Given the description of an element on the screen output the (x, y) to click on. 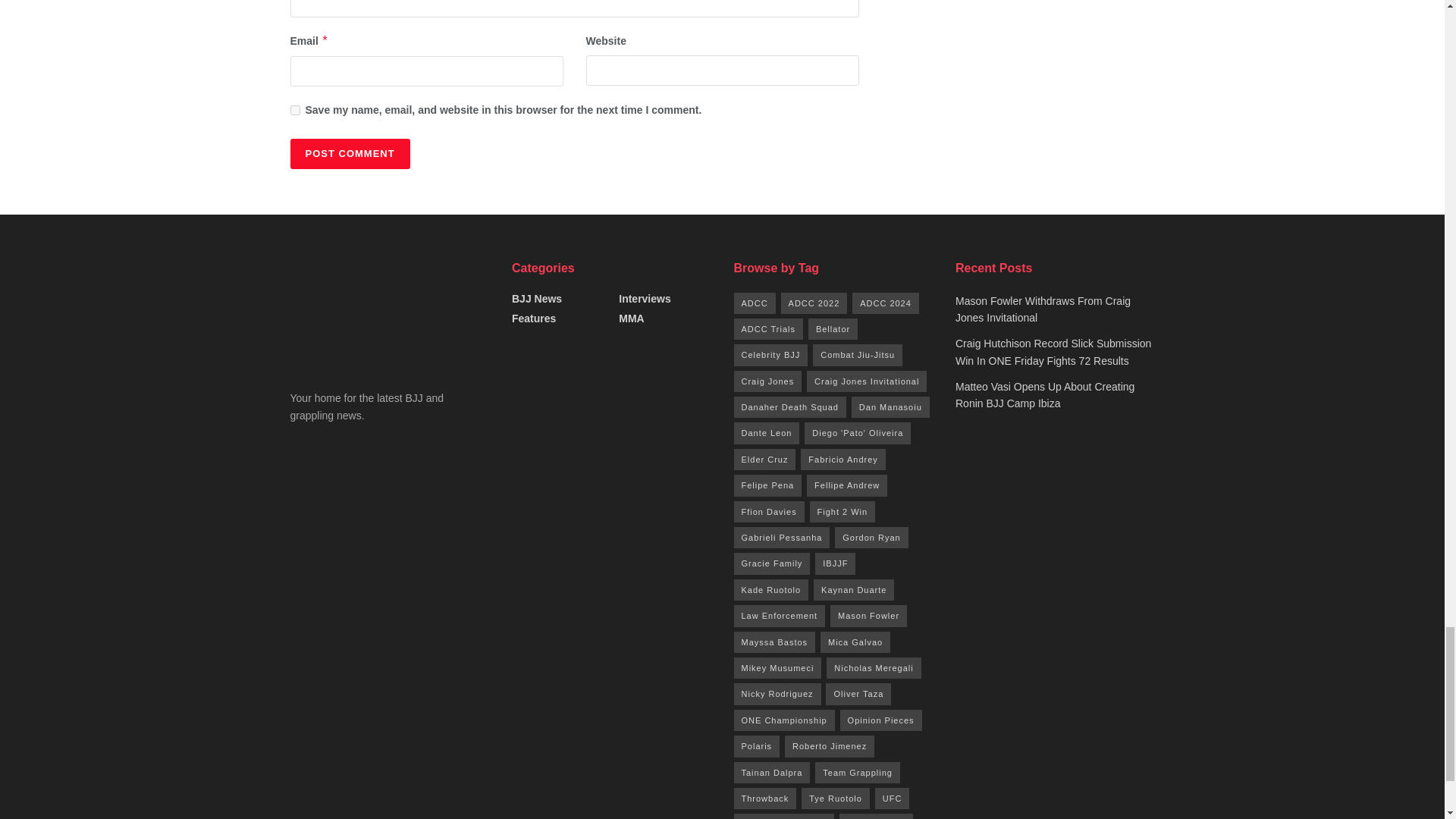
Post Comment (349, 153)
yes (294, 110)
